Given the description of an element on the screen output the (x, y) to click on. 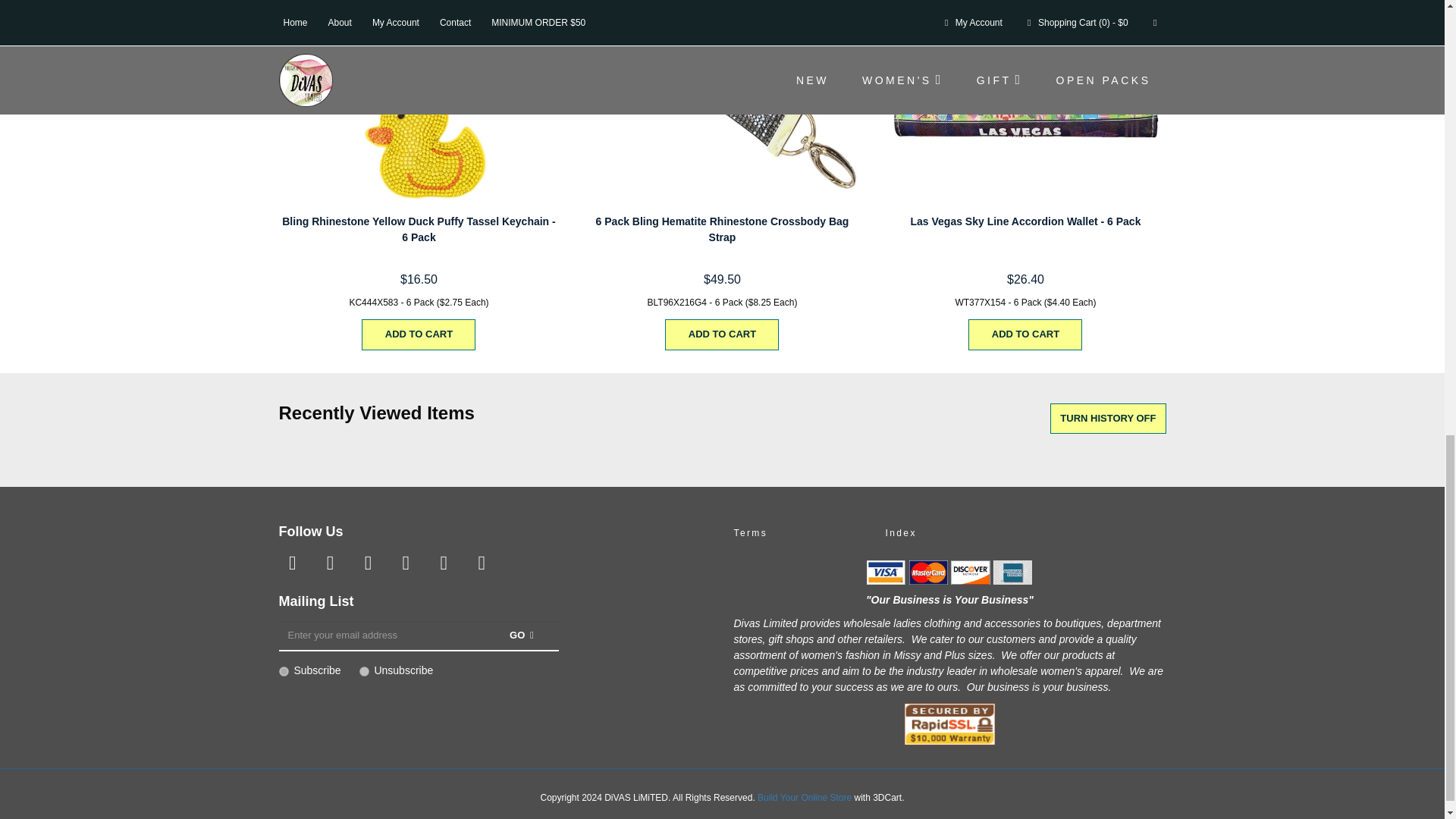
Follow Us on Twitter (329, 563)
0 (364, 670)
Follow Us on Instagram (443, 563)
Like Us on Facebook (292, 563)
Credit Card Logos (949, 572)
Follow Us on Pinterest (405, 563)
1 (283, 670)
Subscribe to our Channel (367, 563)
Subscribe to our Blog (481, 563)
